Given the description of an element on the screen output the (x, y) to click on. 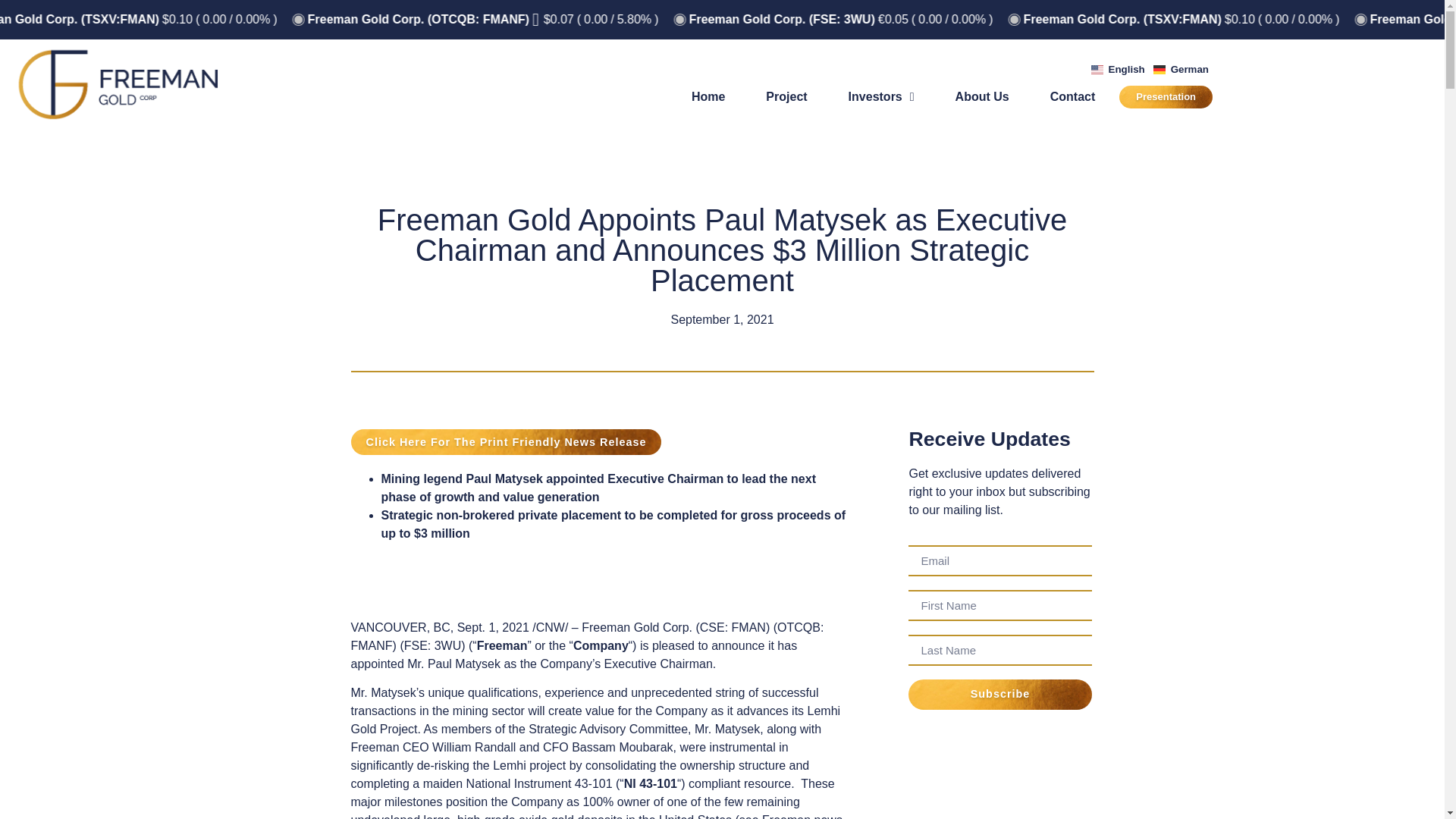
Presentation (1165, 96)
Home (708, 96)
About Us (982, 96)
September 1, 2021 (721, 320)
English (1118, 68)
Subscribe (999, 694)
Click Here For The Print Friendly News Release (505, 442)
Investors (881, 96)
Contact (1072, 96)
Project (786, 96)
German (1181, 68)
